Given the description of an element on the screen output the (x, y) to click on. 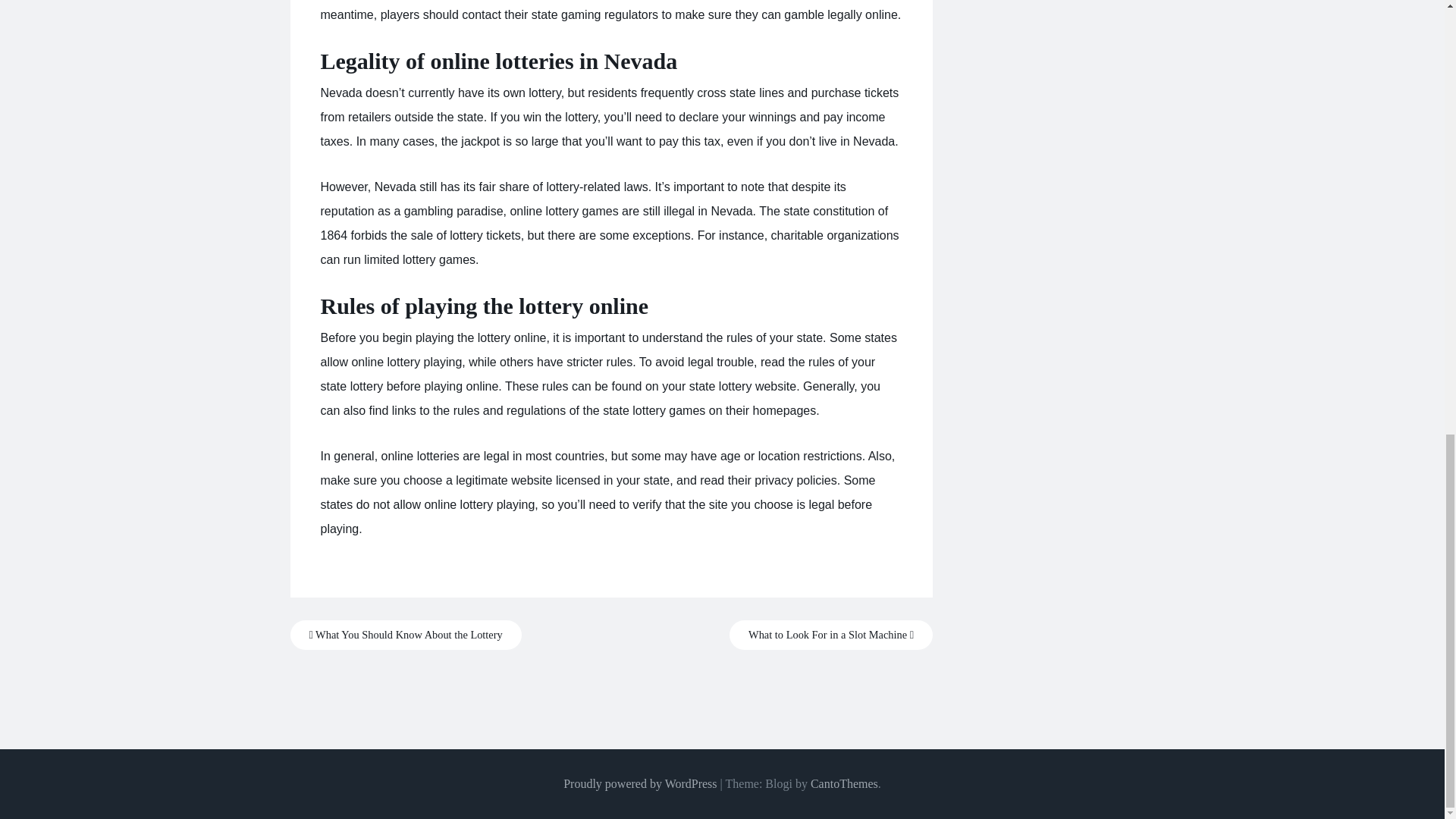
CantoThemes (843, 783)
What to Look For in a Slot Machine (831, 634)
What You Should Know About the Lottery (405, 634)
Proudly powered by WordPress (639, 783)
